Given the description of an element on the screen output the (x, y) to click on. 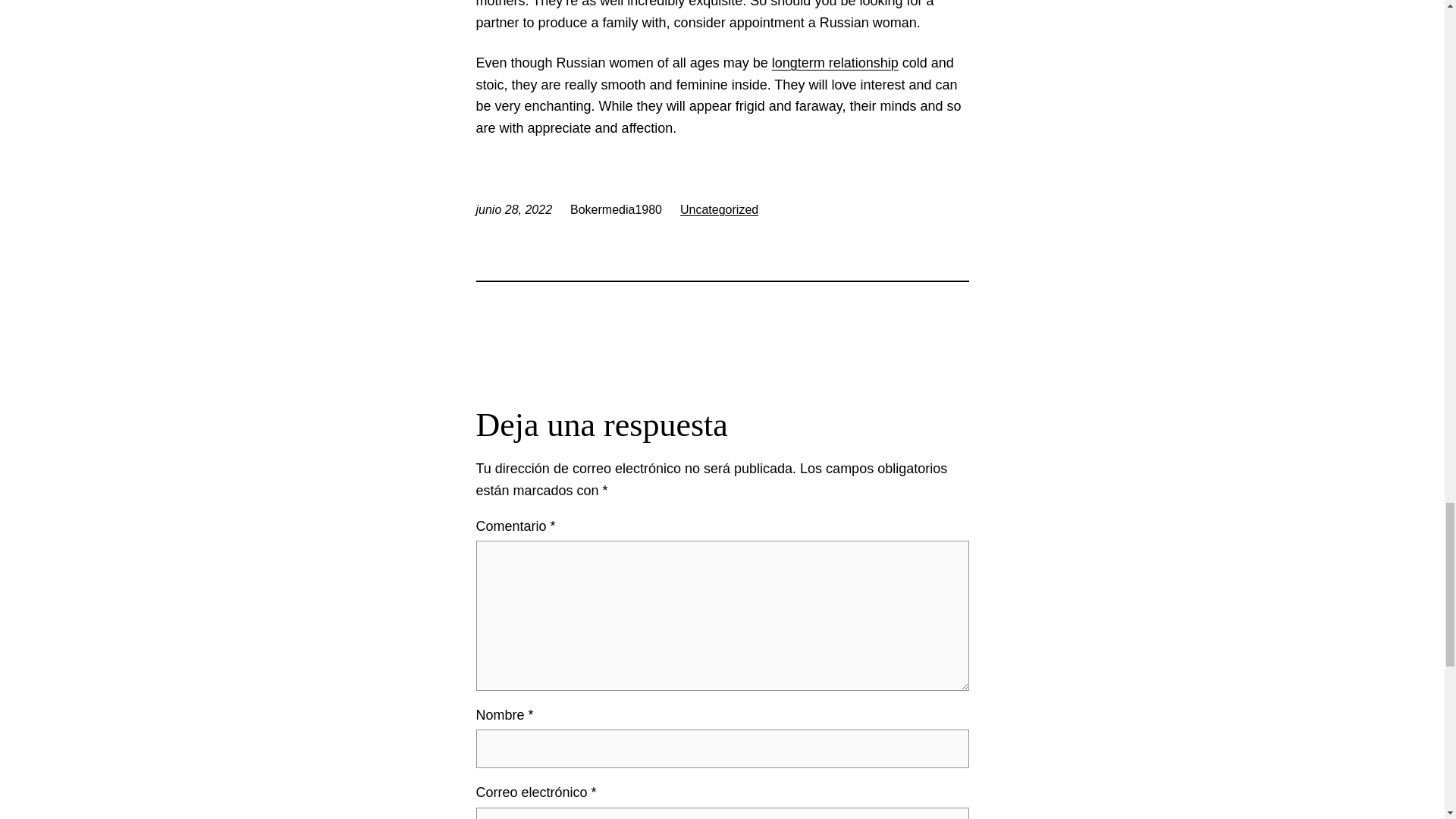
longterm relationship (834, 62)
Uncategorized (718, 209)
